Given the description of an element on the screen output the (x, y) to click on. 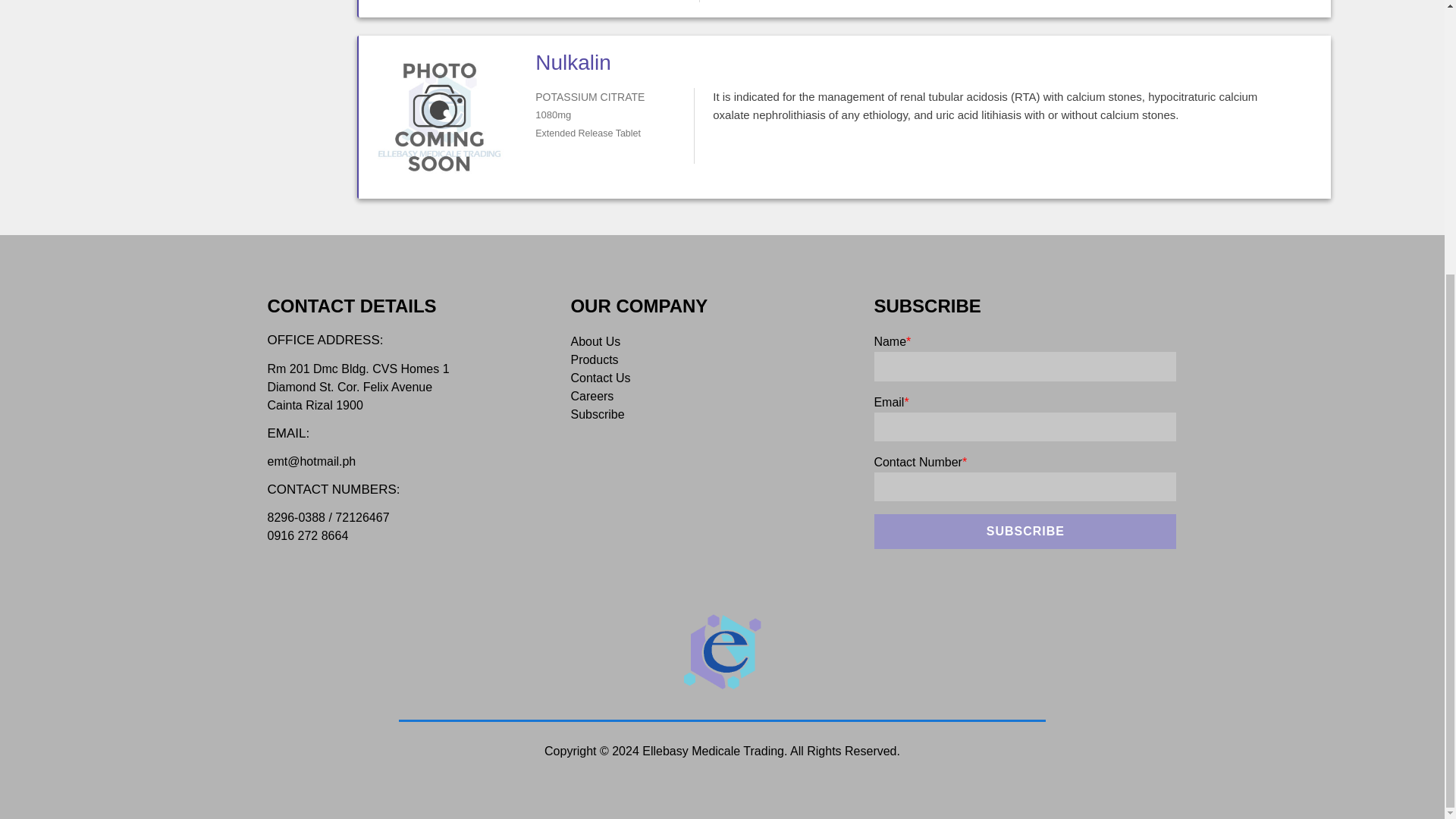
Subscribe (597, 413)
Products (593, 359)
Careers (591, 395)
Contact Us (600, 377)
Subscribe (1024, 531)
About Us (595, 341)
Subscribe (1024, 531)
